Given the description of an element on the screen output the (x, y) to click on. 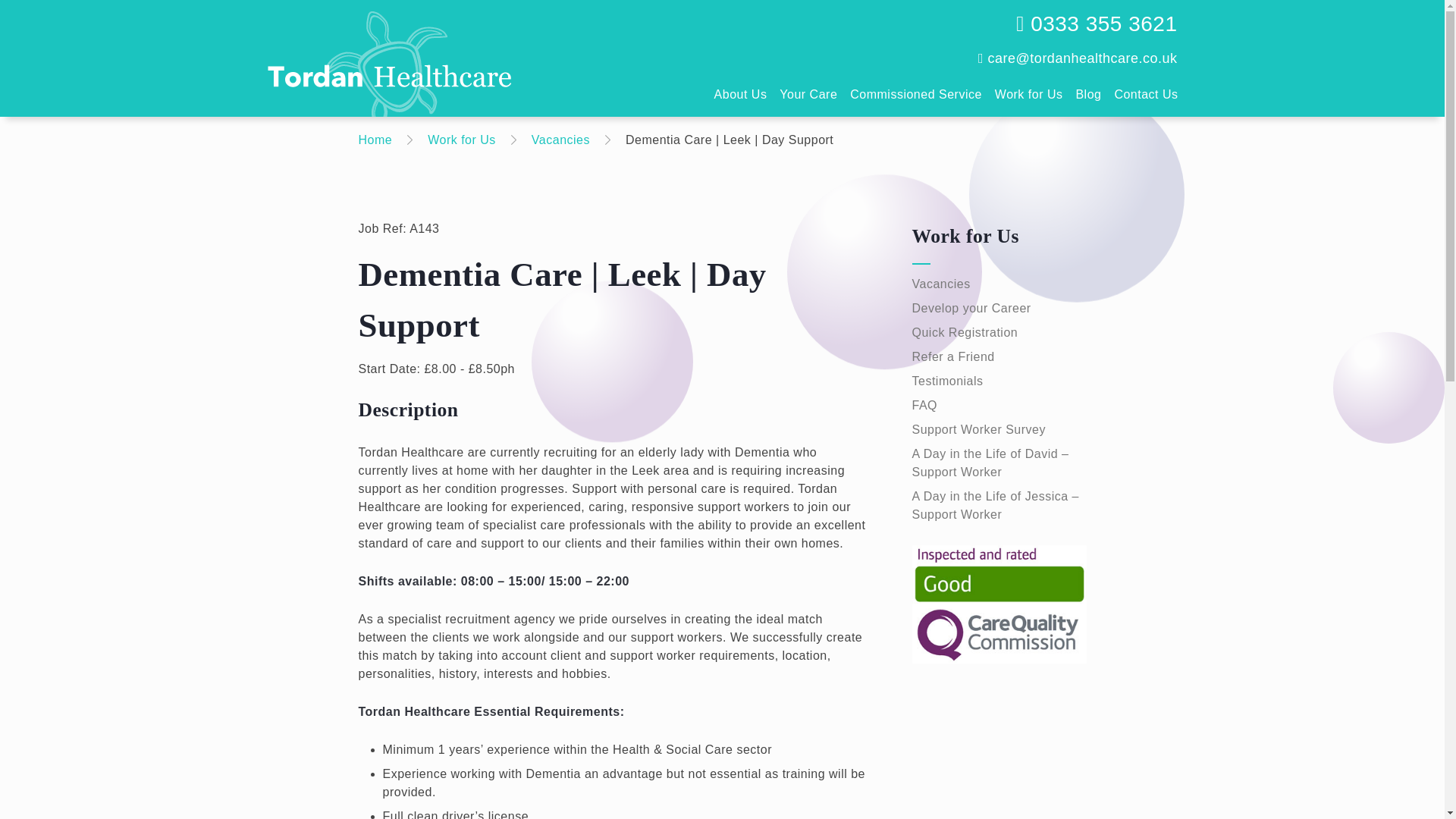
0333 355 3621 (1096, 24)
Your Care (807, 94)
Work for Us (462, 140)
Vacancies (560, 140)
Contact Us (1145, 94)
Home (374, 140)
Tordan Healthcare (480, 58)
Tordan Healthcare Logo (388, 69)
Work for Us (462, 140)
Home (374, 140)
Work for Us (998, 235)
Vacancies (560, 140)
About Us (740, 94)
Commissioned Service (916, 94)
Work for Us (1028, 94)
